Given the description of an element on the screen output the (x, y) to click on. 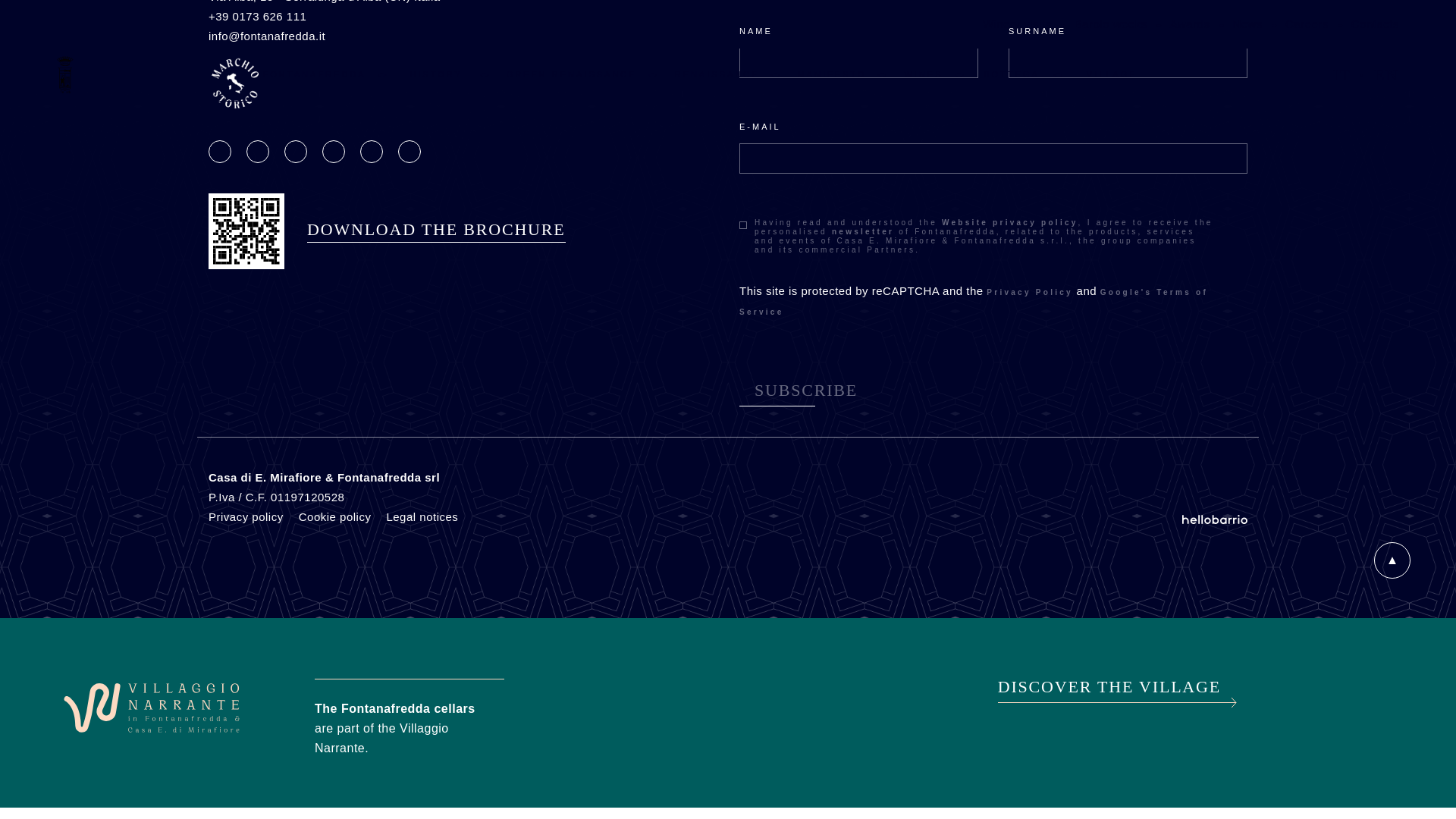
Subscribe (805, 389)
